Given the description of an element on the screen output the (x, y) to click on. 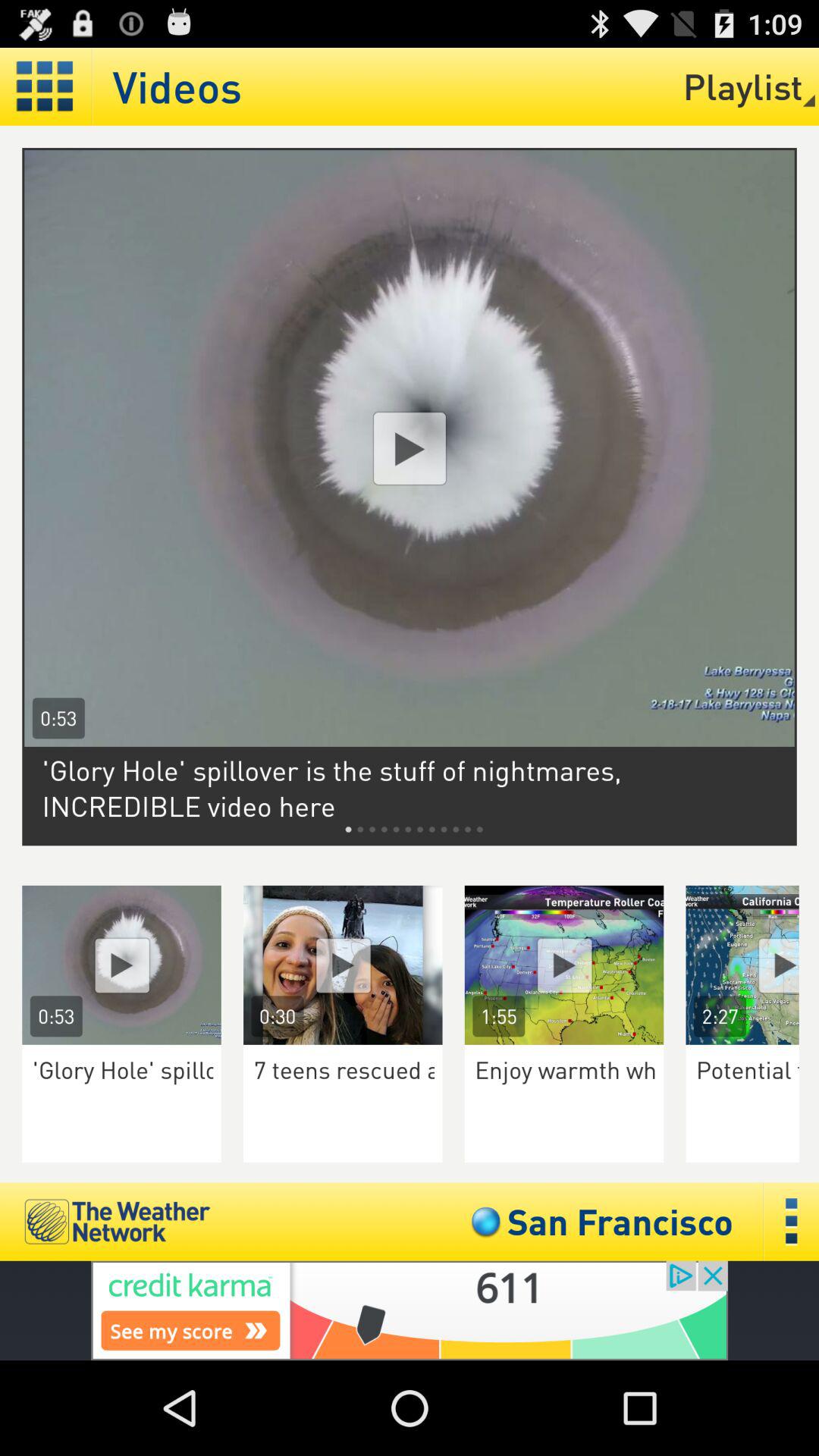
advertisement click (409, 1310)
